Given the description of an element on the screen output the (x, y) to click on. 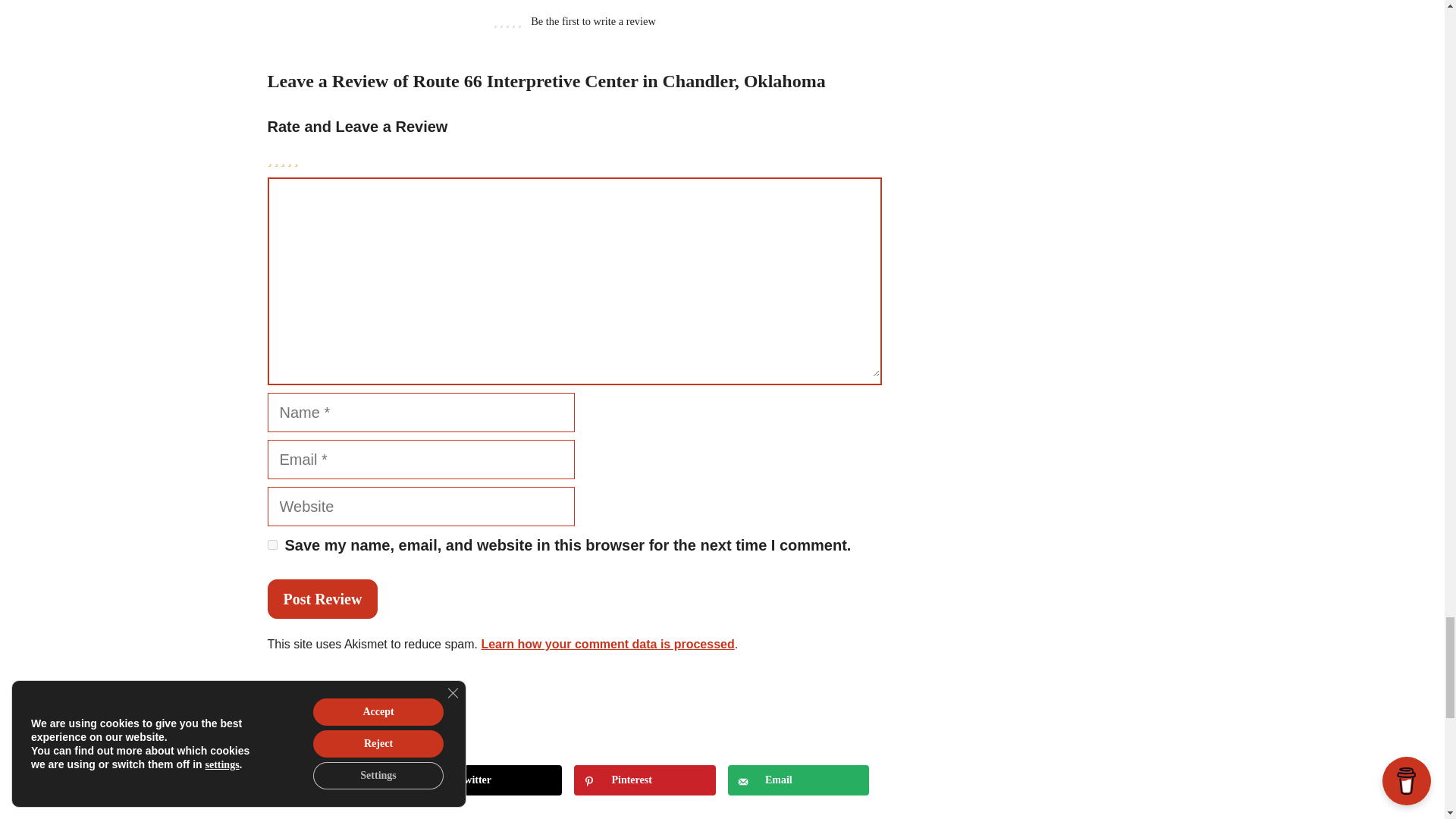
Share on Facebook (336, 779)
Share on X (491, 779)
yes (271, 544)
Send over email (798, 779)
Post Review (321, 599)
Save to Pinterest (643, 779)
